Given the description of an element on the screen output the (x, y) to click on. 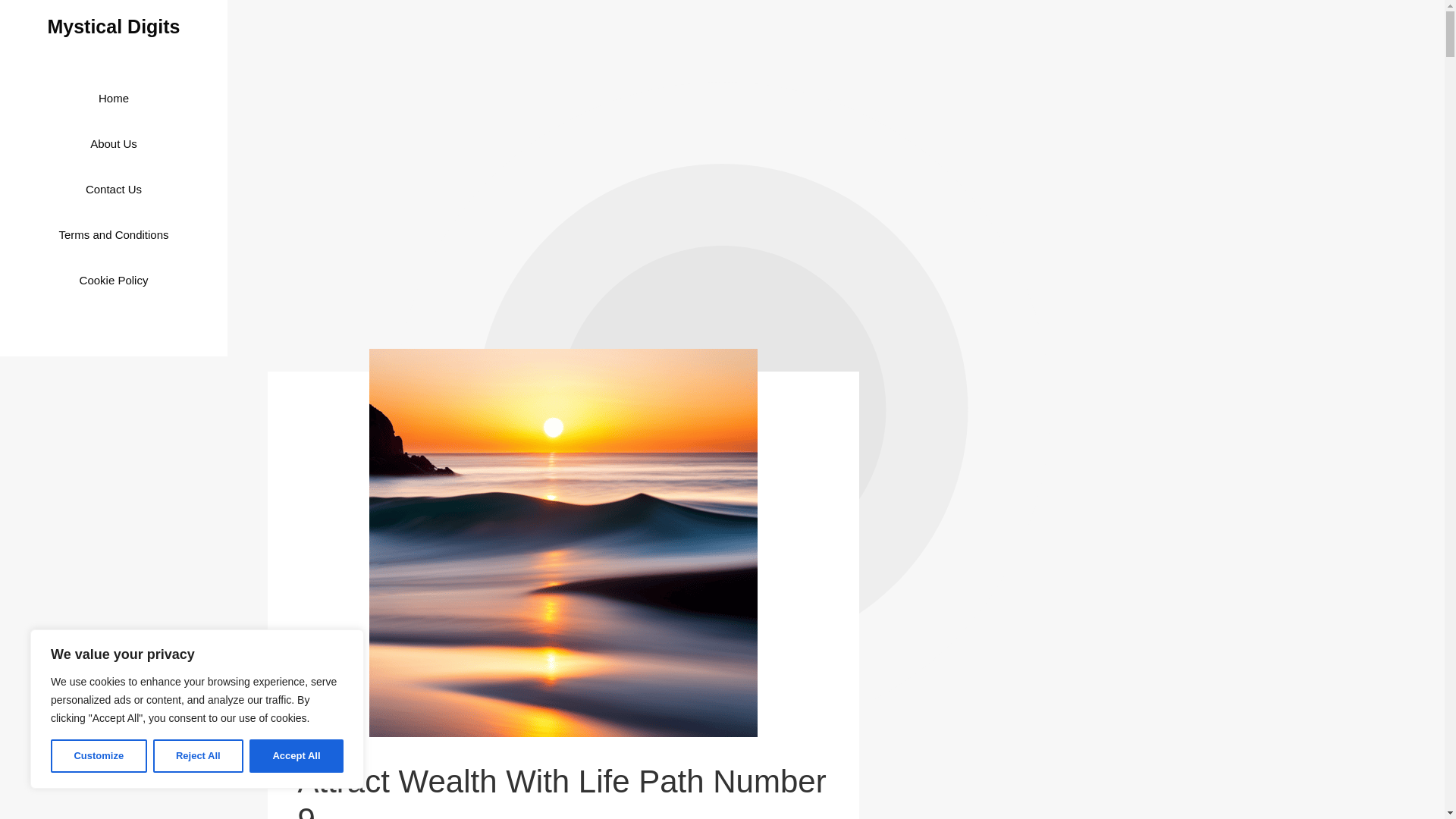
Cookie Policy (113, 280)
About Us - Mystical Digits (113, 144)
Terms and Conditions - Mystical Digits (113, 234)
Customize (98, 756)
Cookie Policy - Mystical Digits (113, 280)
About Us (113, 144)
Home (113, 98)
Reject All (198, 756)
Mystical Digits (112, 25)
Terms and Conditions (113, 234)
Contact Us (113, 189)
Contact Us - Mystical Digits (113, 189)
Accept All (295, 756)
